Given the description of an element on the screen output the (x, y) to click on. 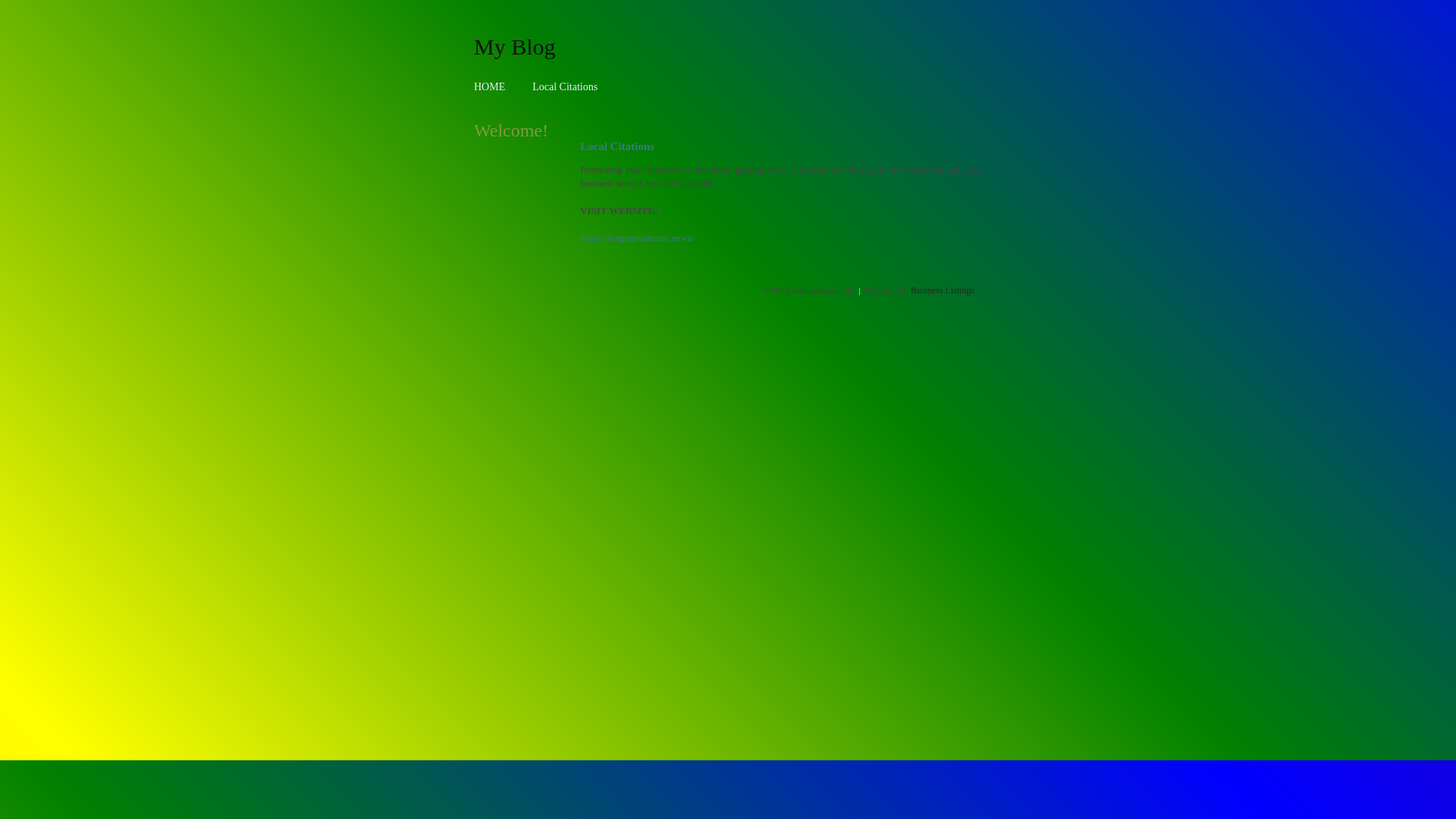
Business Listings Element type: text (942, 290)
HOME Element type: text (489, 86)
https://thegenevatimes.news/ Element type: text (637, 237)
My Blog Element type: text (514, 46)
Local Citations Element type: text (564, 86)
